Given the description of an element on the screen output the (x, y) to click on. 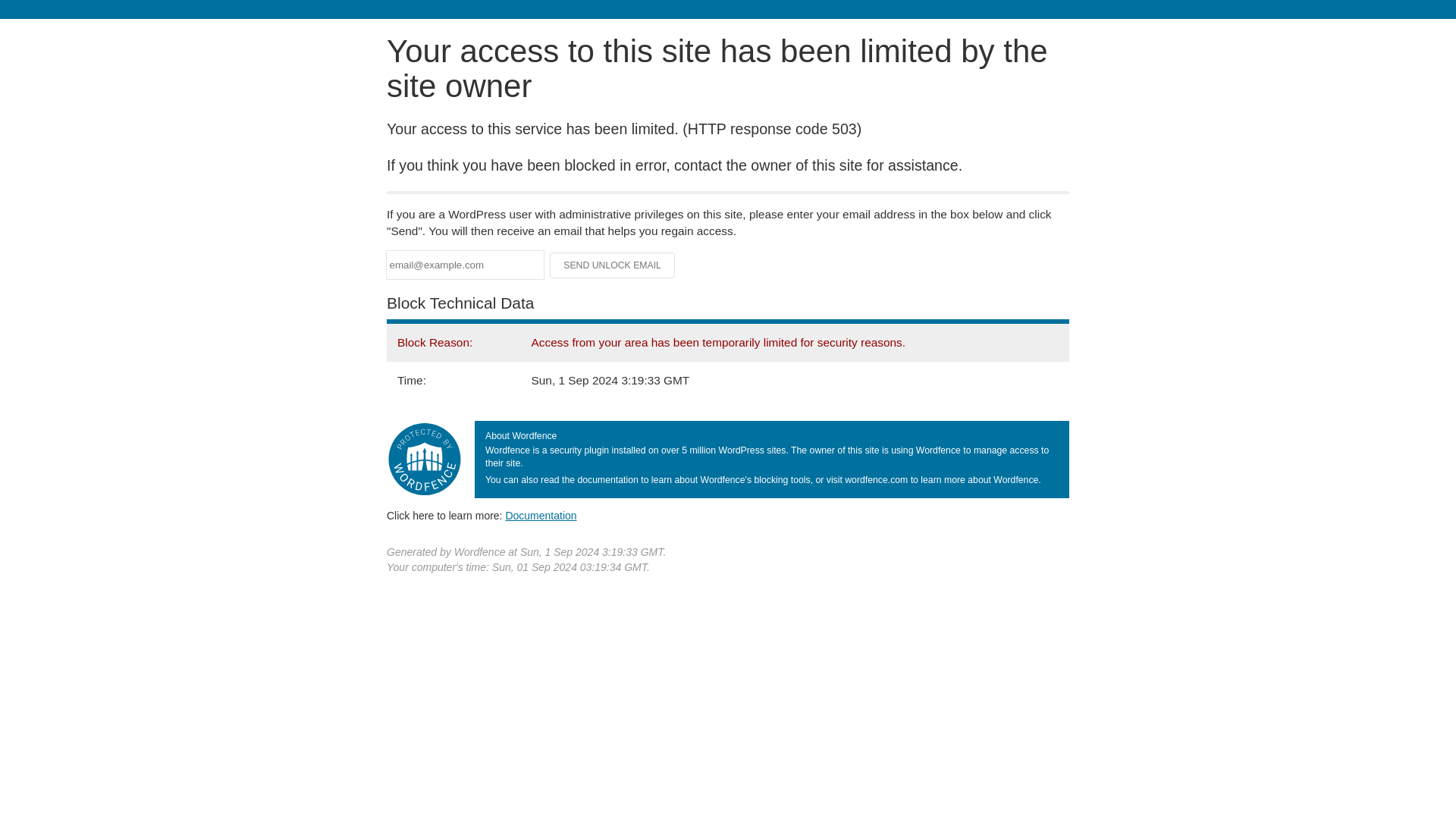
Documentation (540, 515)
Send Unlock Email (612, 265)
Send Unlock Email (612, 265)
